Given the description of an element on the screen output the (x, y) to click on. 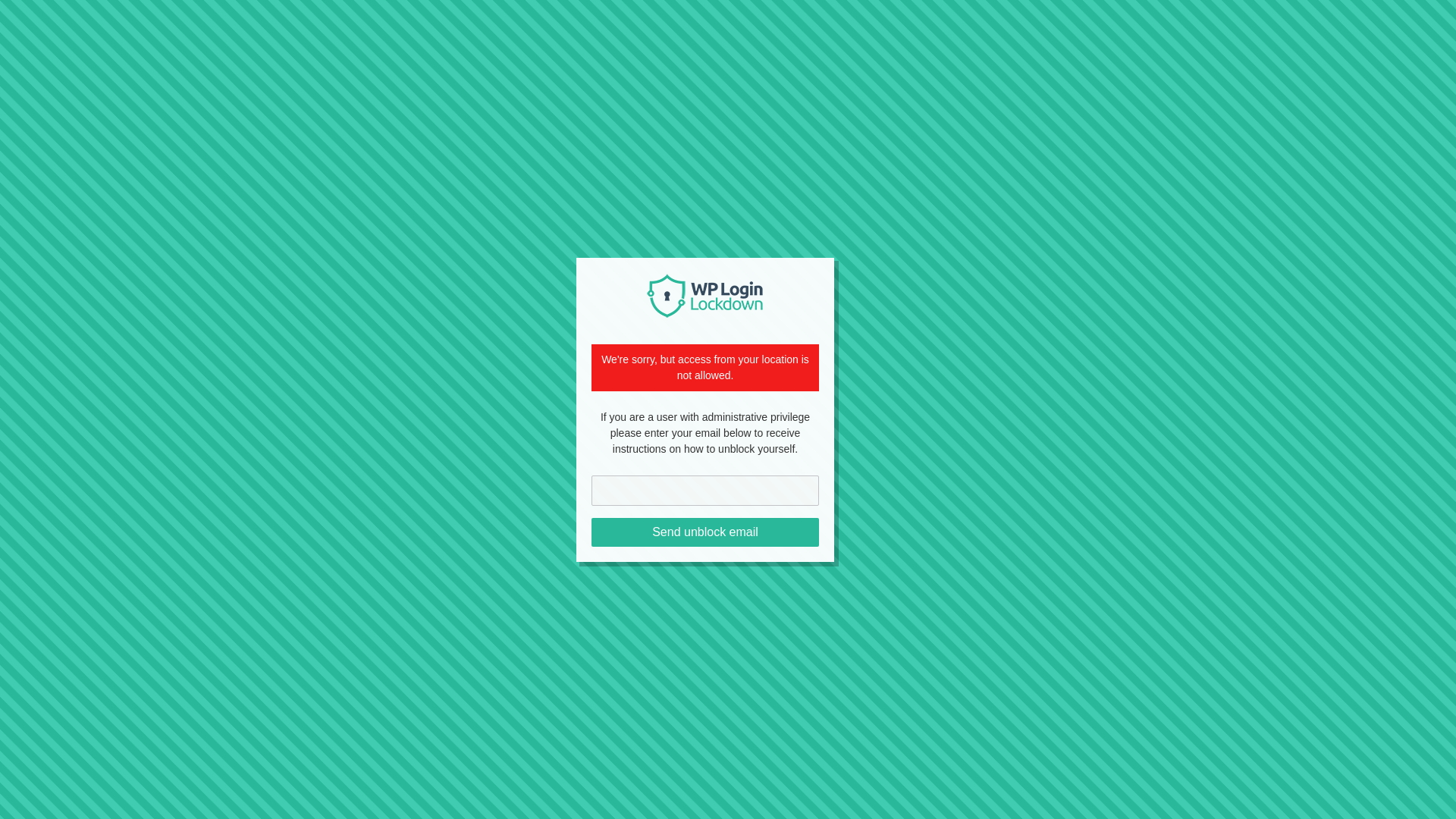
Login Lockdown PRO (705, 295)
Send unblock email (704, 532)
Send unblock email (704, 532)
